Given the description of an element on the screen output the (x, y) to click on. 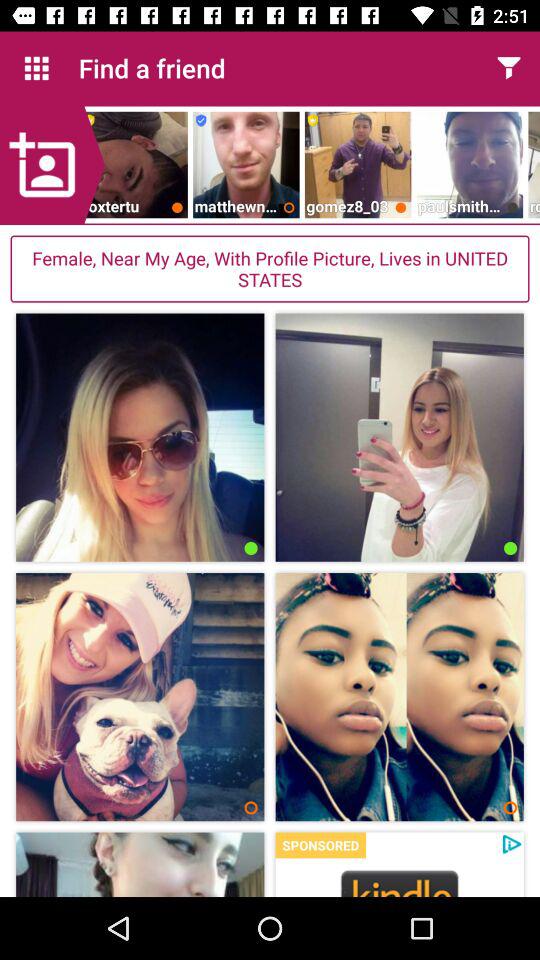
kindle button (399, 882)
